Given the description of an element on the screen output the (x, y) to click on. 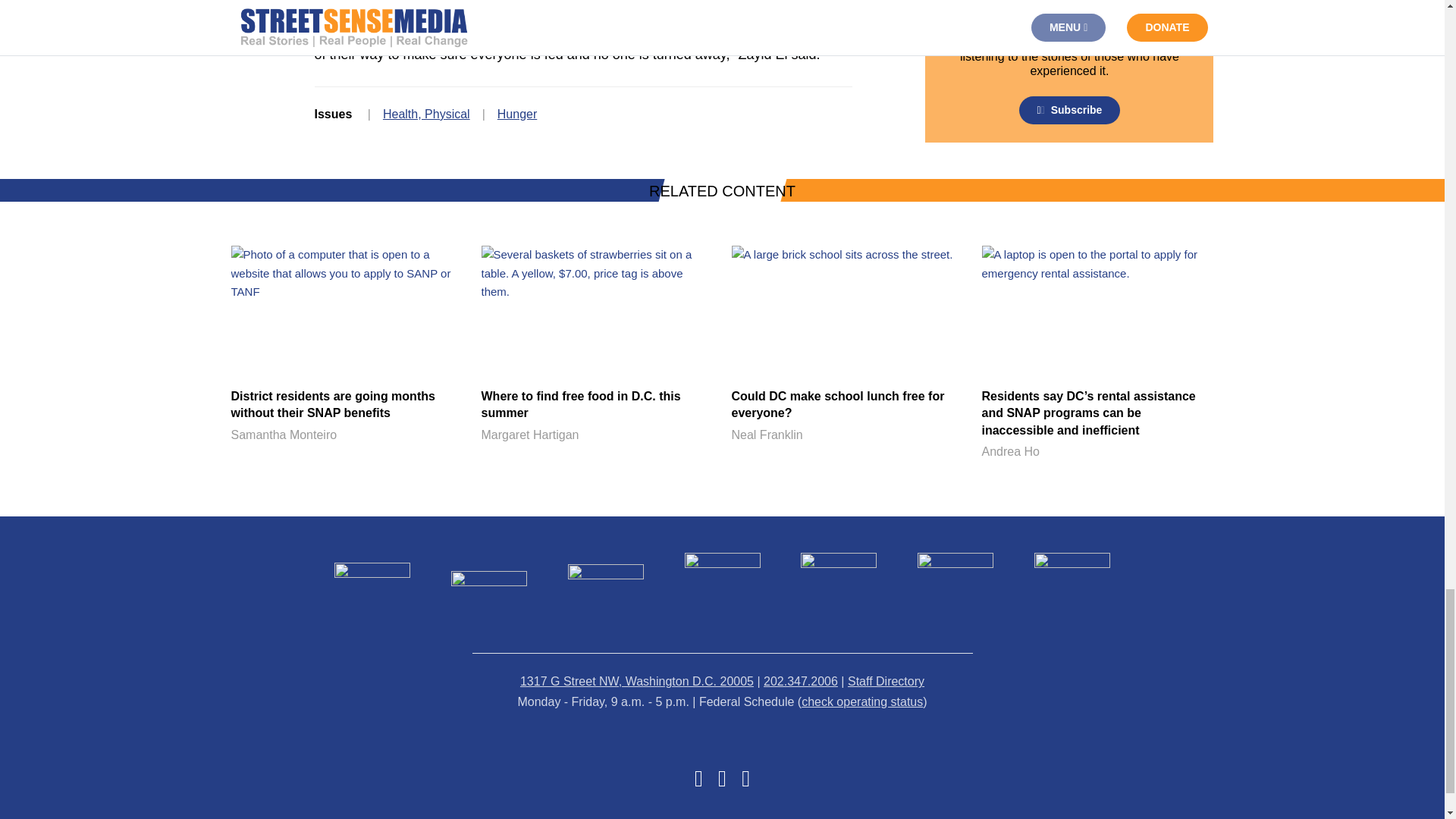
Staff Directory (885, 680)
1317 G Street NW, Washington D.C. 20005 (636, 680)
check operating status (862, 701)
Hunger (517, 113)
Health, Physical (426, 113)
202.347.2006 (846, 345)
